Given the description of an element on the screen output the (x, y) to click on. 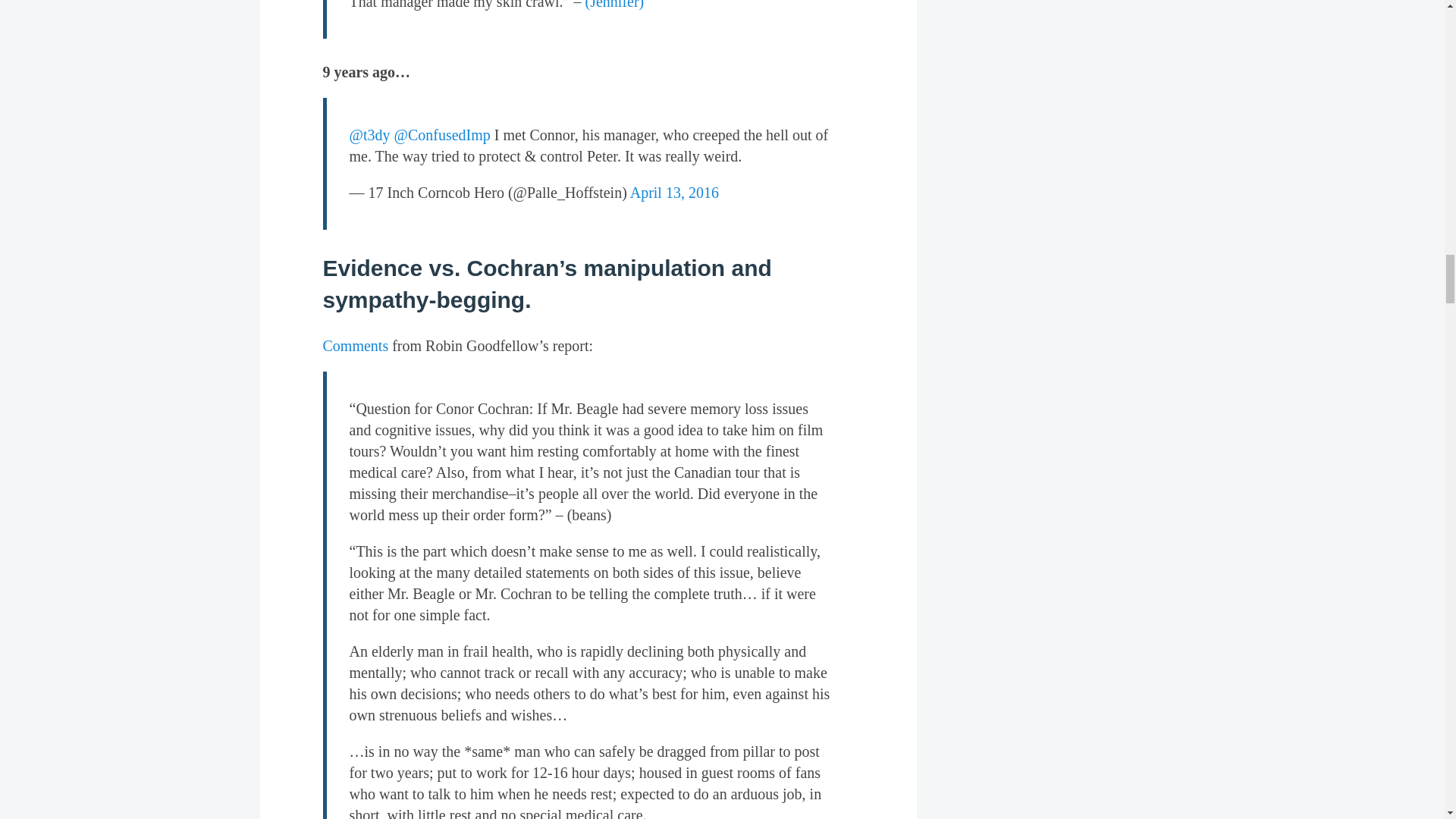
Comments (355, 345)
April 13, 2016 (674, 192)
